Given the description of an element on the screen output the (x, y) to click on. 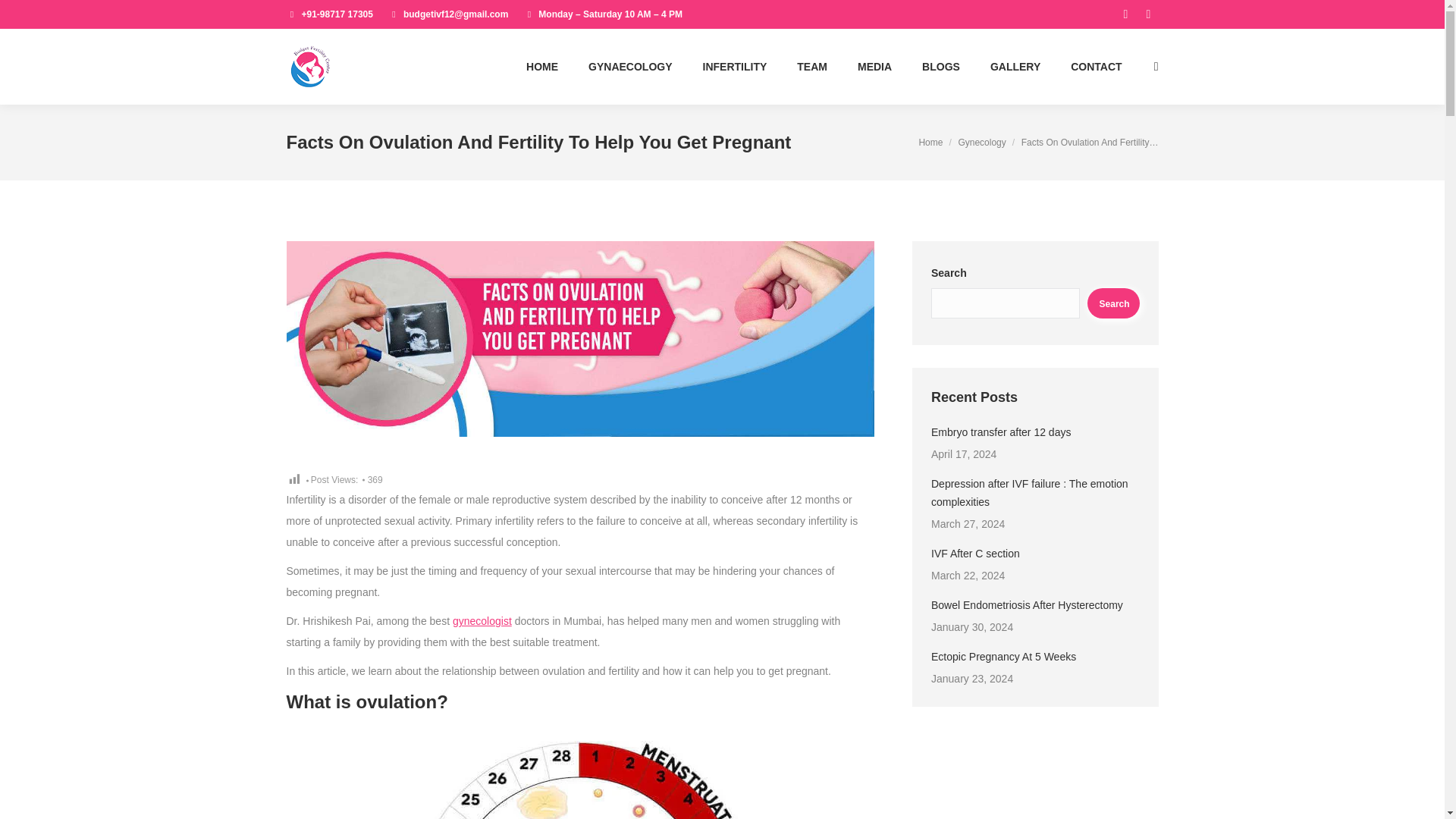
INFERTILITY (734, 66)
Facebook page opens in new window (1125, 14)
GALLERY (1014, 66)
Instagram page opens in new window (1148, 14)
TEAM (812, 66)
GYNAECOLOGY (629, 66)
Home (930, 142)
CONTACT (1095, 66)
HOME (542, 66)
MEDIA (873, 66)
